Given the description of an element on the screen output the (x, y) to click on. 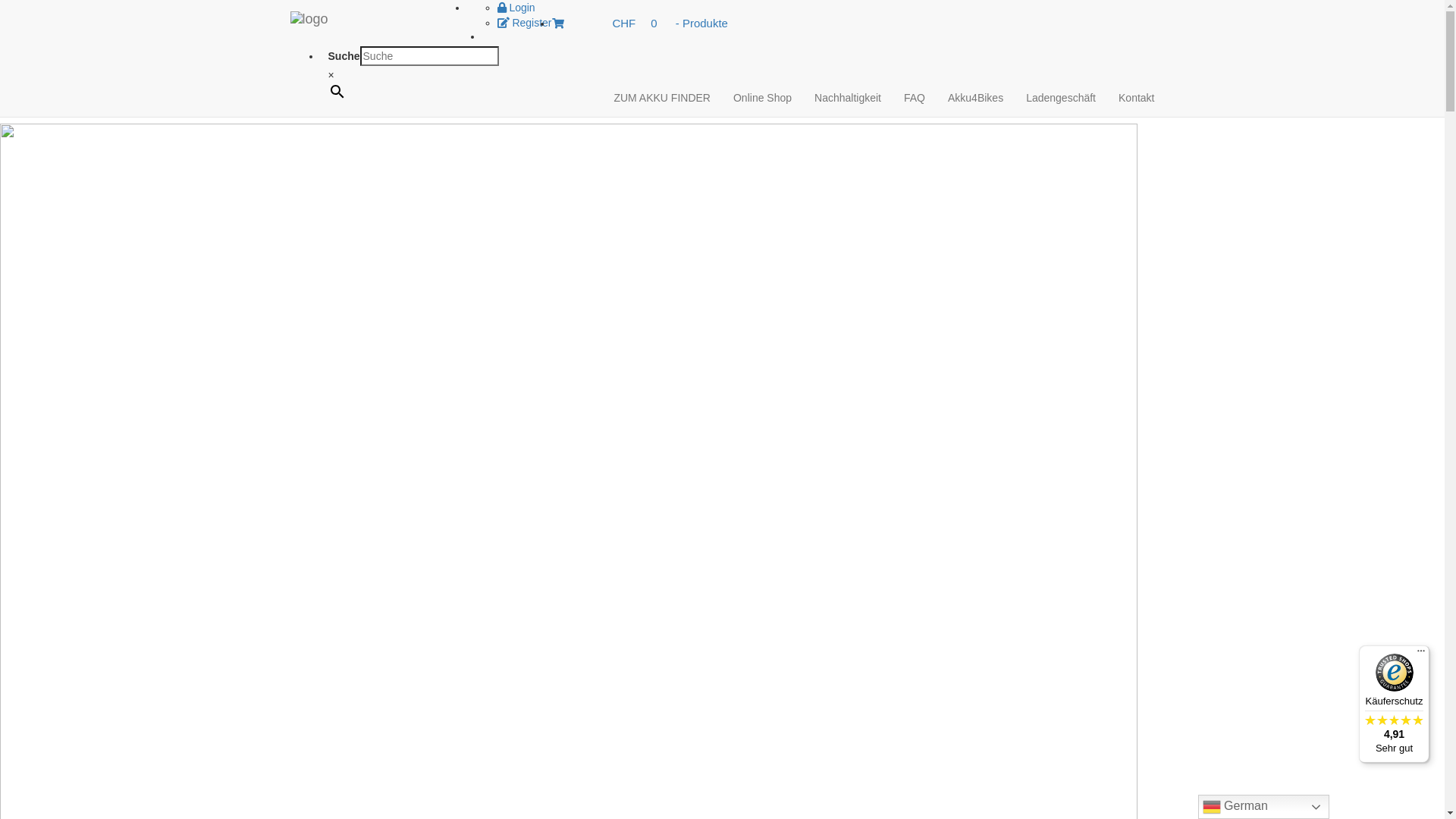
Login Element type: text (516, 7)
Online Shop Element type: text (762, 97)
Kontakt Element type: text (1136, 97)
Register Element type: text (524, 22)
Akku4Bikes Element type: text (975, 97)
CHF0 - Produkte Element type: text (647, 23)
FAQ Element type: text (914, 97)
Nachhaltigkeit Element type: text (847, 97)
ZUM AKKU FINDER Element type: text (661, 97)
